Given the description of an element on the screen output the (x, y) to click on. 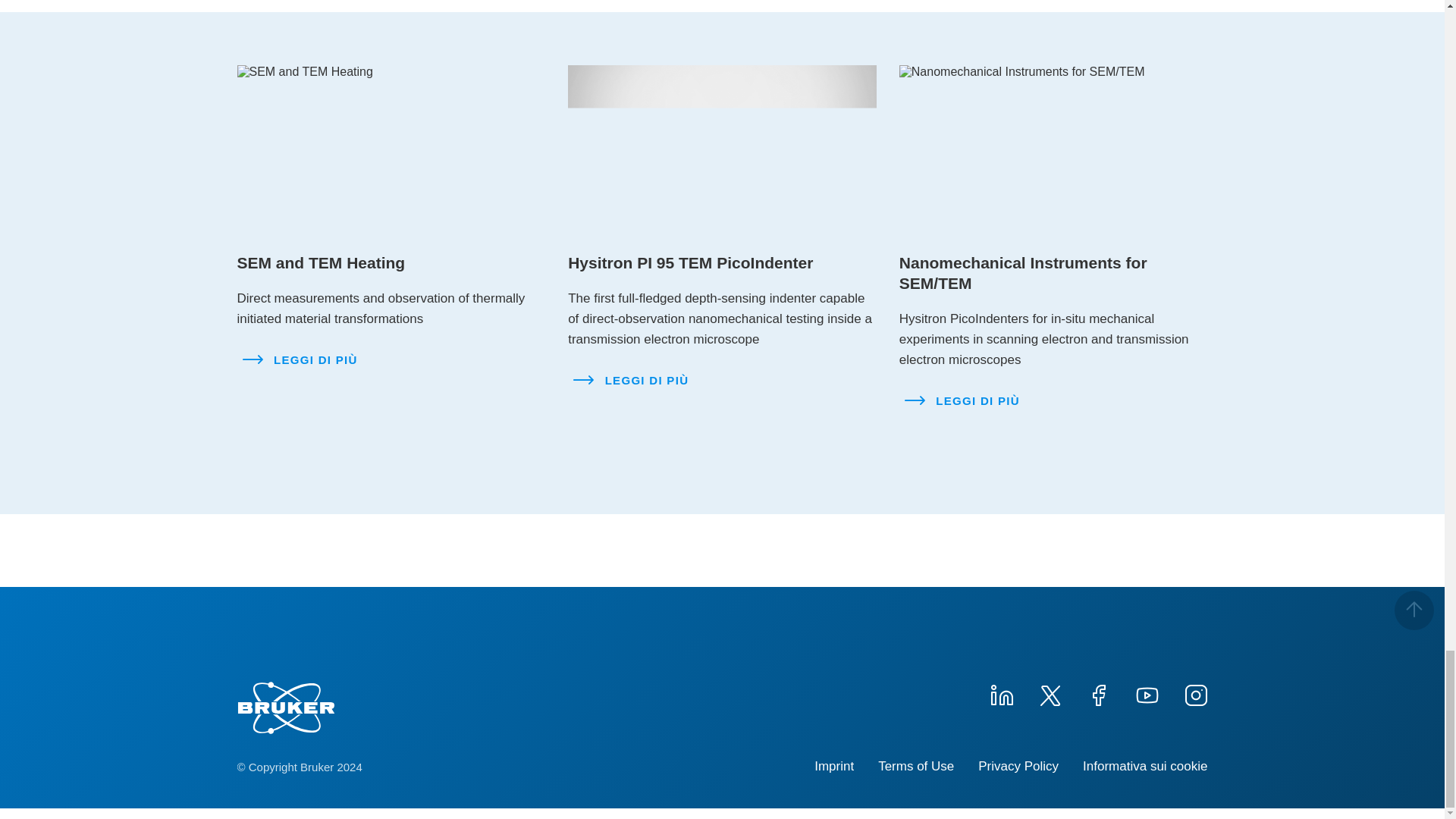
youtube (1146, 693)
linkedin (1000, 693)
Terms of Use (915, 766)
facebook (1097, 693)
twitter (1048, 693)
Imprint (833, 766)
Privacy Policy (1018, 766)
instagram (1194, 693)
